Given the description of an element on the screen output the (x, y) to click on. 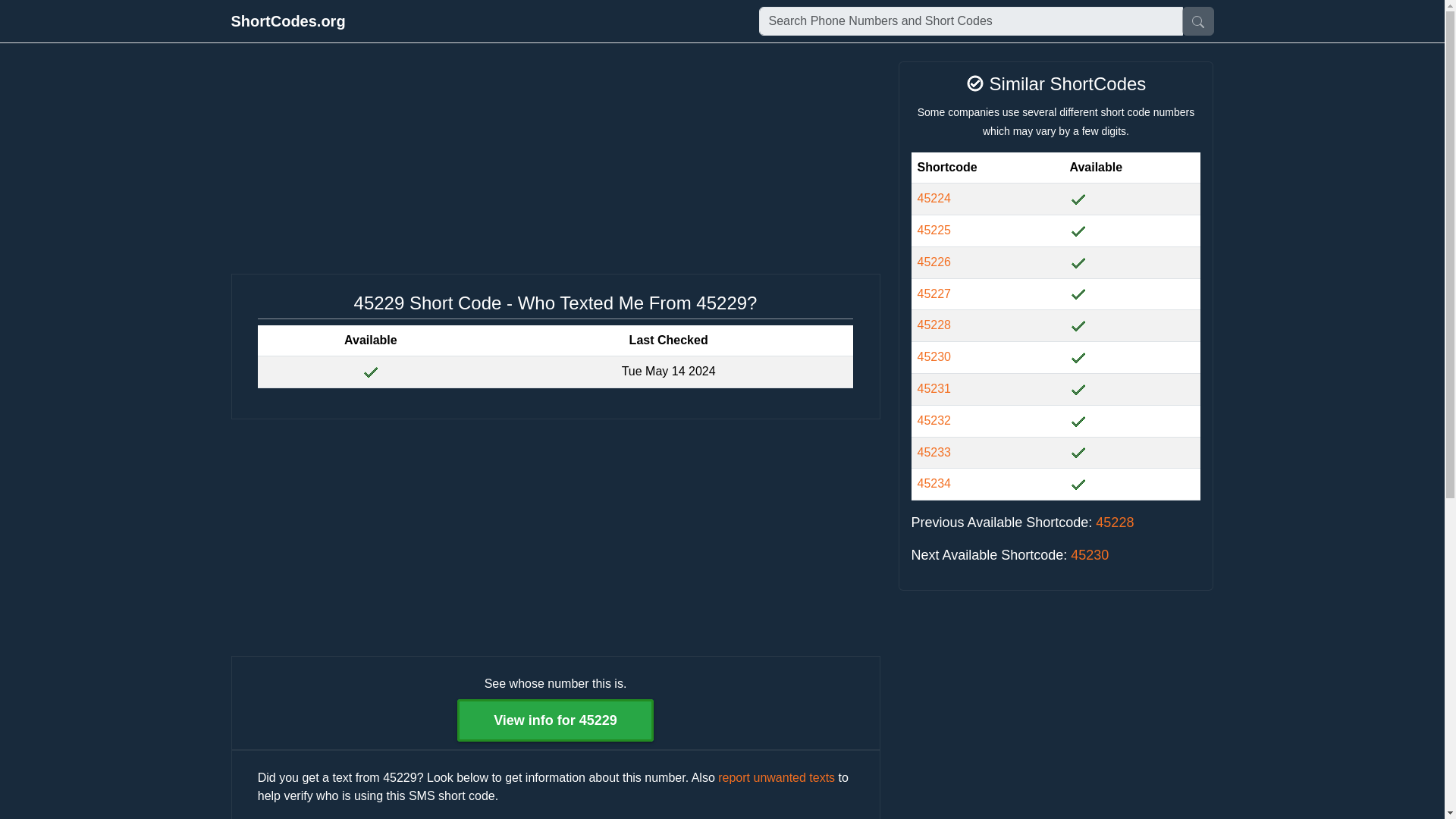
report unwanted texts (775, 777)
45231 (934, 388)
45232 (934, 420)
45233 (934, 451)
45226 (934, 261)
Advertisement (1055, 710)
45227 (934, 293)
45234 (934, 482)
ShortCodes.org (287, 20)
45225 (934, 229)
45230 (1089, 554)
45228 (1115, 522)
45230 (934, 356)
